Given the description of an element on the screen output the (x, y) to click on. 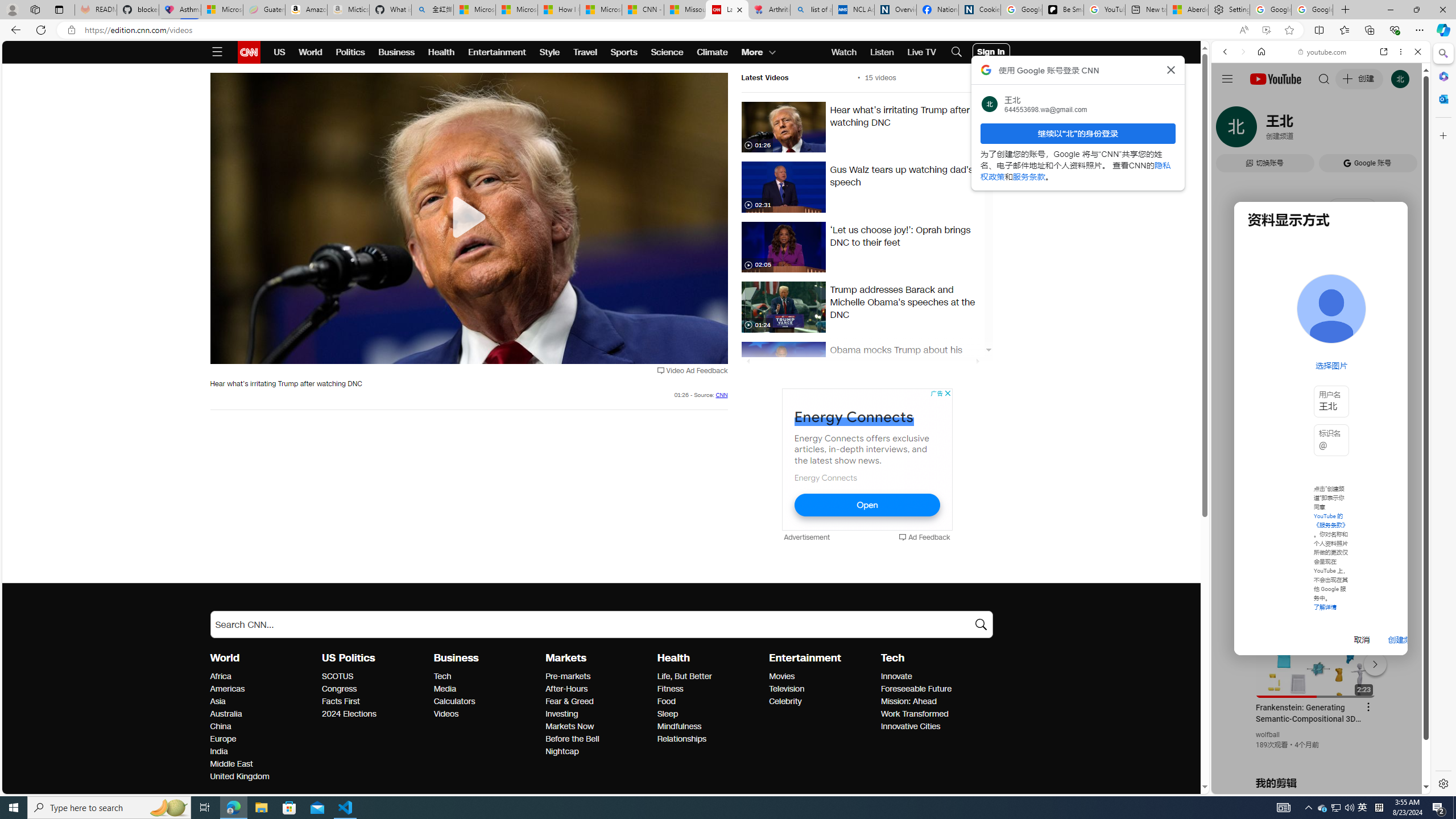
Health Sleep (667, 713)
Markets Now (598, 726)
Listen (881, 52)
World China (220, 726)
SCOTUS (373, 676)
Show More Music (1390, 310)
Aberdeen, Hong Kong SAR hourly forecast | Microsoft Weather (1186, 9)
Business Tech (442, 676)
